Given the description of an element on the screen output the (x, y) to click on. 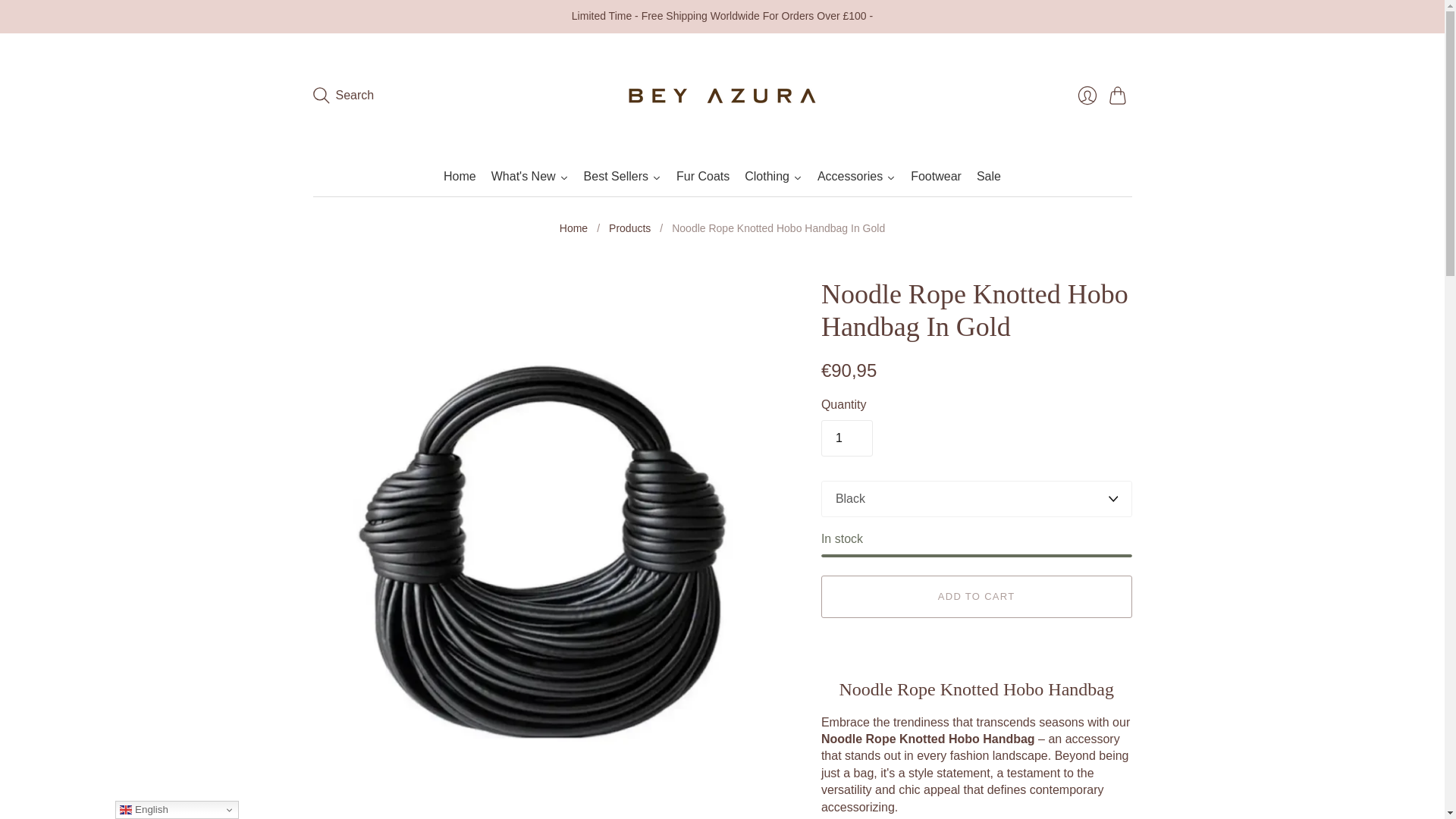
What's New (529, 177)
Search (342, 95)
Clothing (772, 177)
Clothing (772, 177)
Sale (989, 177)
Accessories (855, 177)
Accessories (855, 177)
Fur Coats (702, 177)
Cart (1119, 95)
Home (459, 177)
Sale (989, 177)
Home (573, 228)
Footwear (935, 177)
Login (1086, 95)
Fur Coats (702, 177)
